Given the description of an element on the screen output the (x, y) to click on. 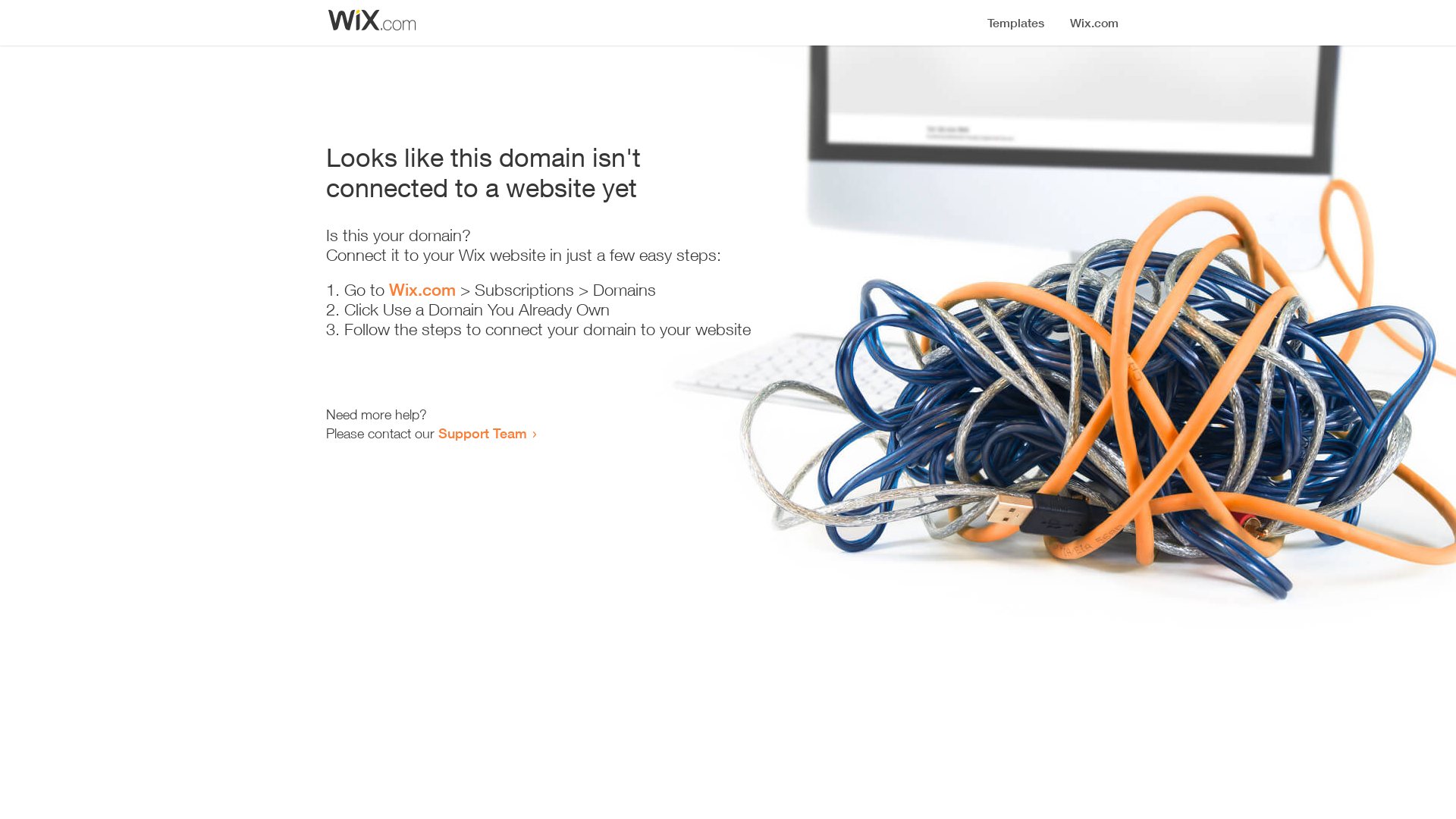
Wix.com Element type: text (422, 289)
Support Team Element type: text (482, 432)
